Given the description of an element on the screen output the (x, y) to click on. 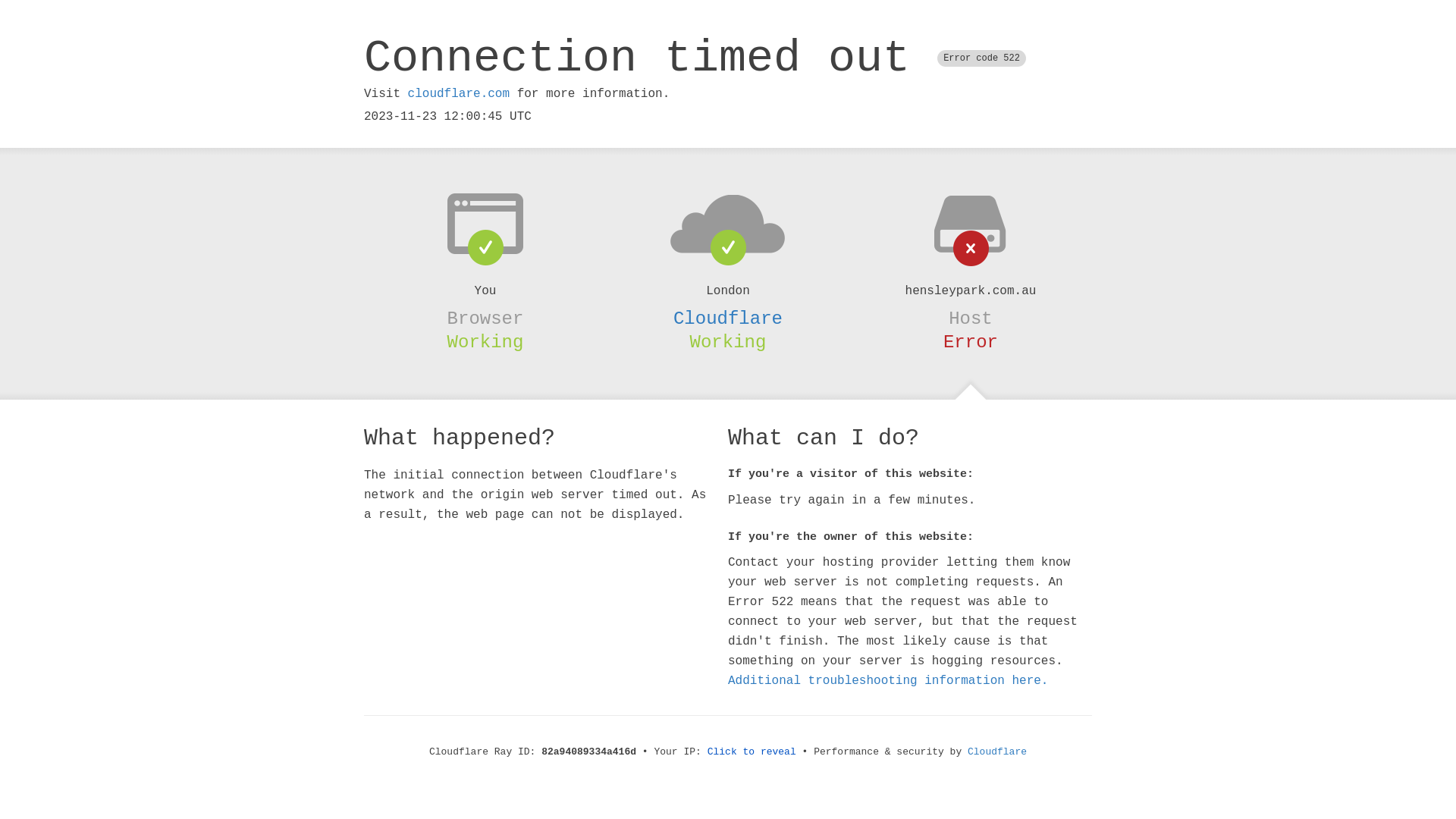
cloudflare.com Element type: text (458, 93)
Cloudflare Element type: text (996, 751)
Click to reveal Element type: text (751, 751)
Additional troubleshooting information here. Element type: text (888, 680)
Cloudflare Element type: text (727, 318)
